Given the description of an element on the screen output the (x, y) to click on. 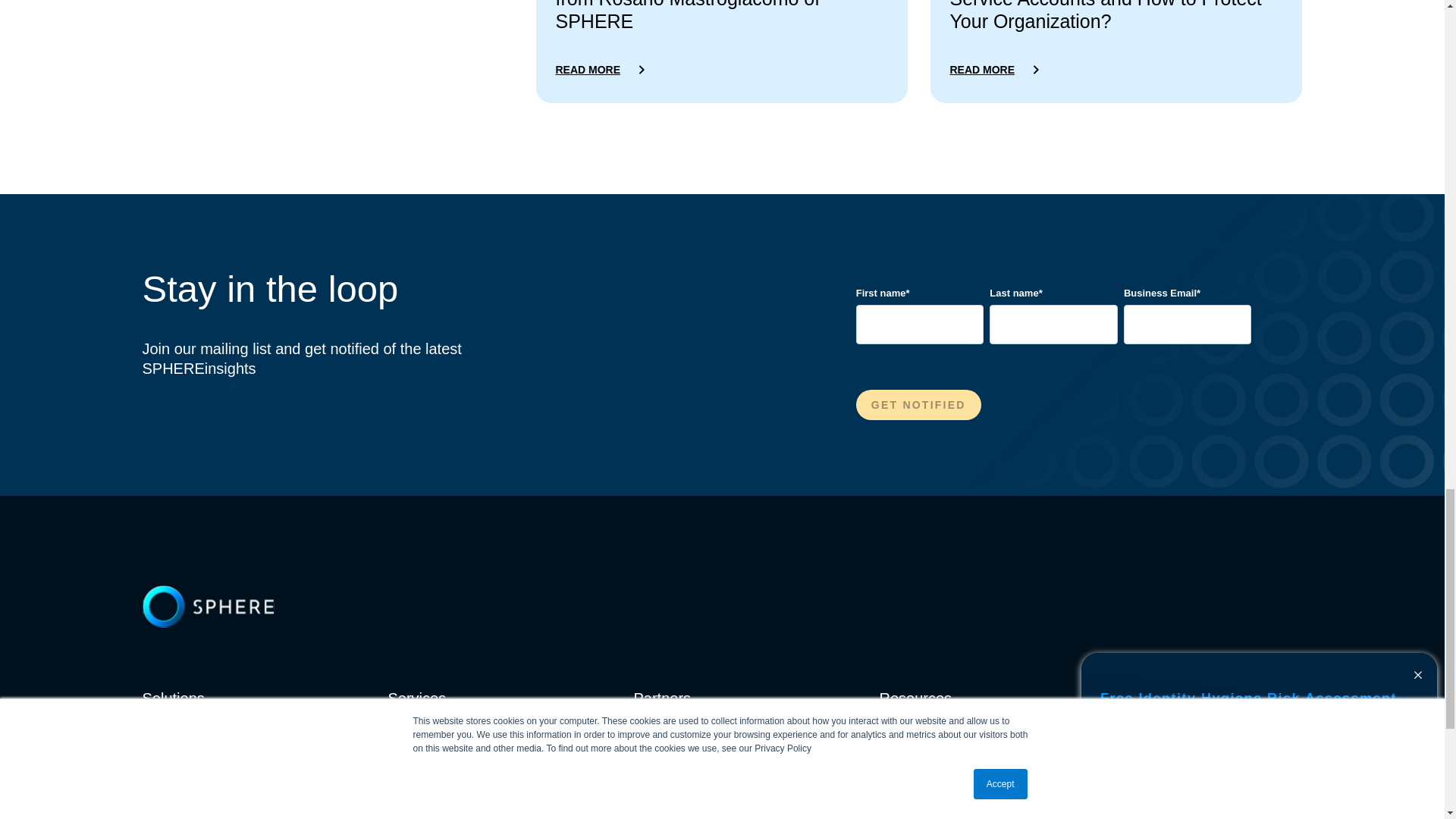
Get Notified (918, 404)
